Given the description of an element on the screen output the (x, y) to click on. 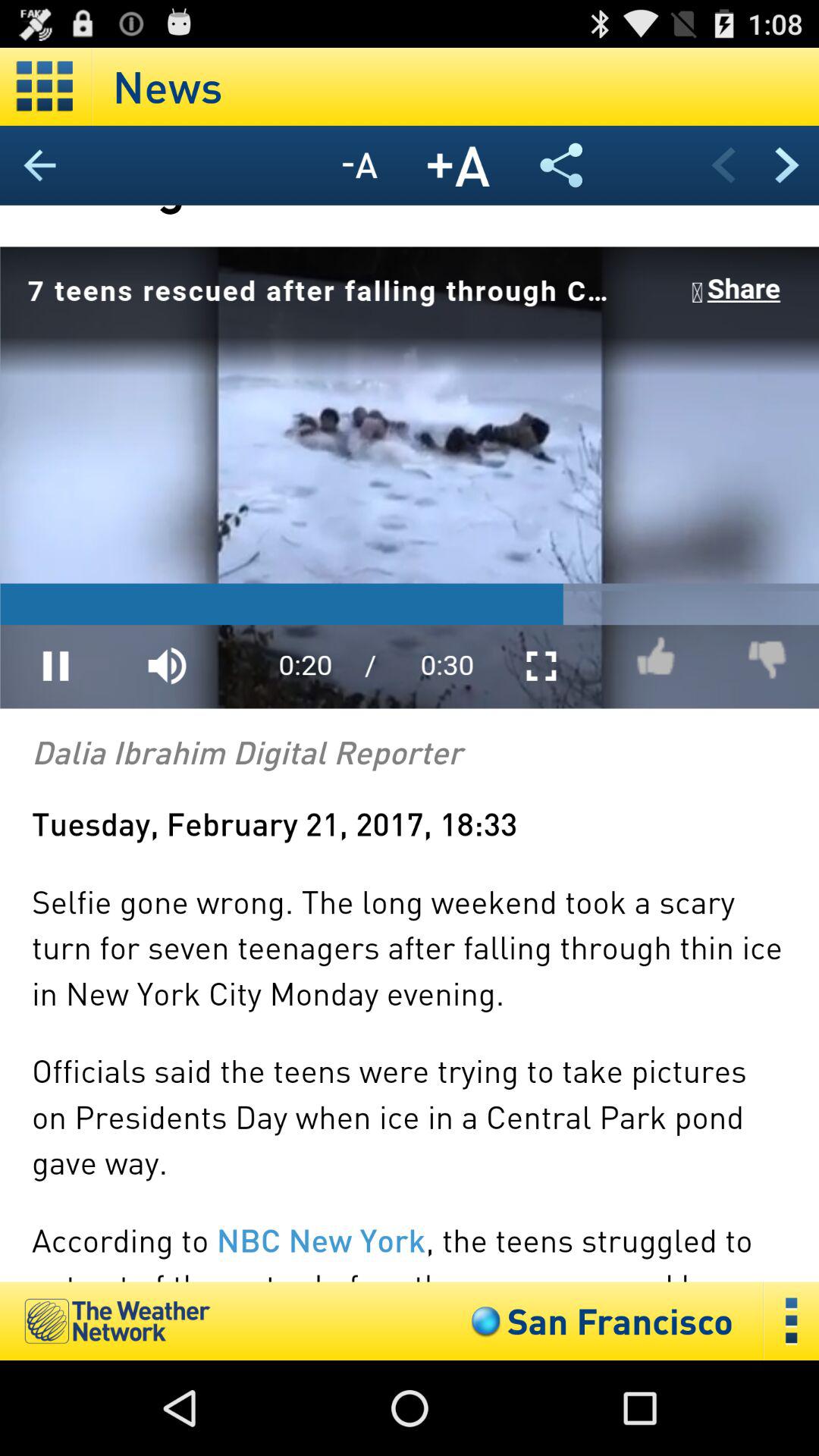
apps (45, 86)
